Given the description of an element on the screen output the (x, y) to click on. 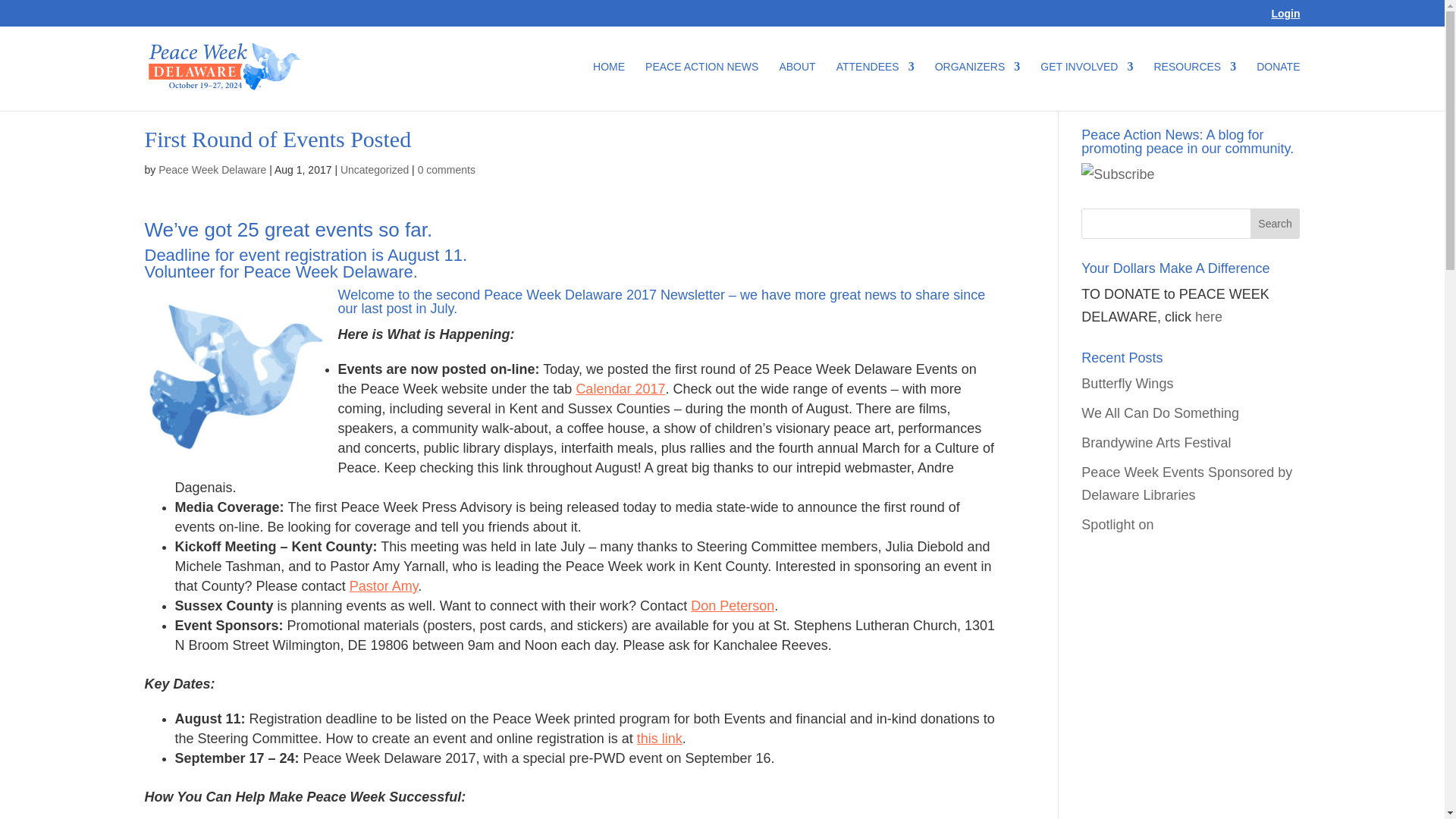
Posts by Peace Week Delaware (212, 169)
Search (1275, 223)
0 comments (446, 169)
RESOURCES (1194, 85)
GET INVOLVED (1086, 85)
ORGANIZERS (977, 85)
Pastor Amy (384, 585)
Don Peterson (732, 605)
Search (1275, 223)
ATTENDEES (874, 85)
Login (1285, 16)
this link (659, 738)
Peace Week Delaware (212, 169)
Calendar 2017 (620, 388)
PEACE ACTION NEWS (701, 85)
